Given the description of an element on the screen output the (x, y) to click on. 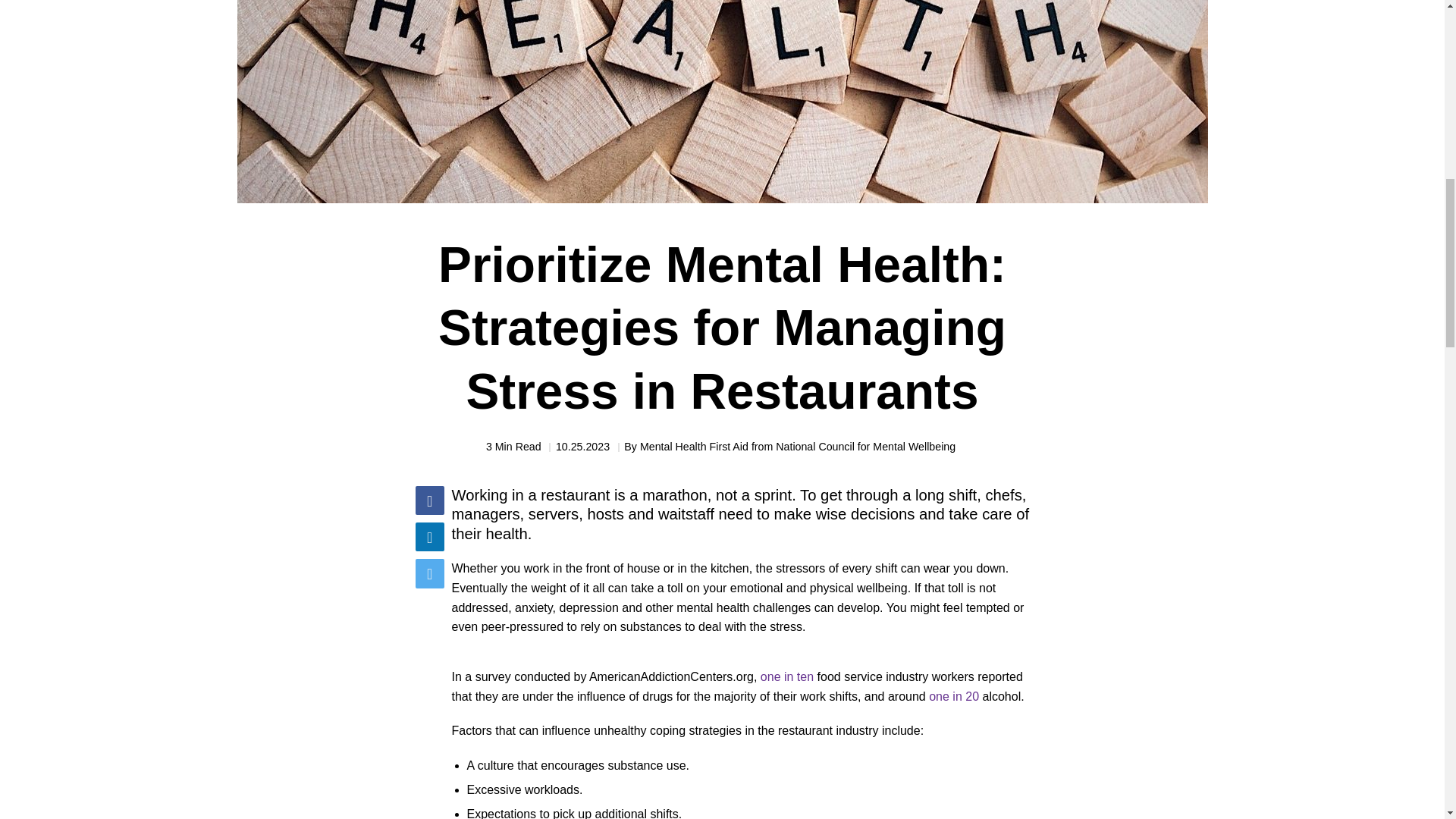
Share via Facebook (429, 500)
Share via Twitter (429, 573)
one in 20 (953, 696)
Share via LinkedIn (429, 536)
one in ten (786, 676)
